Given the description of an element on the screen output the (x, y) to click on. 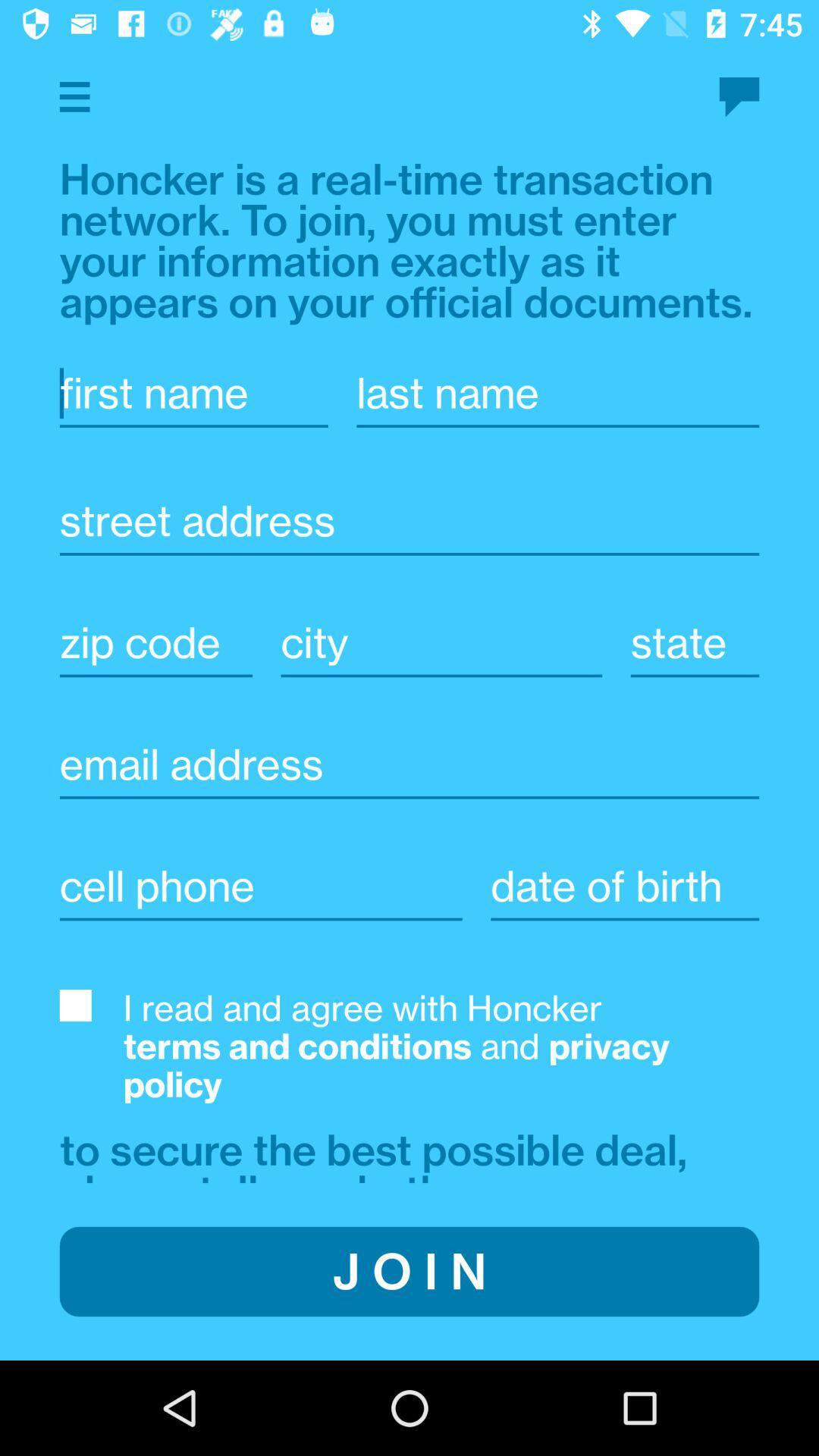
turn off the item above to secure the (441, 1046)
